Given the description of an element on the screen output the (x, y) to click on. 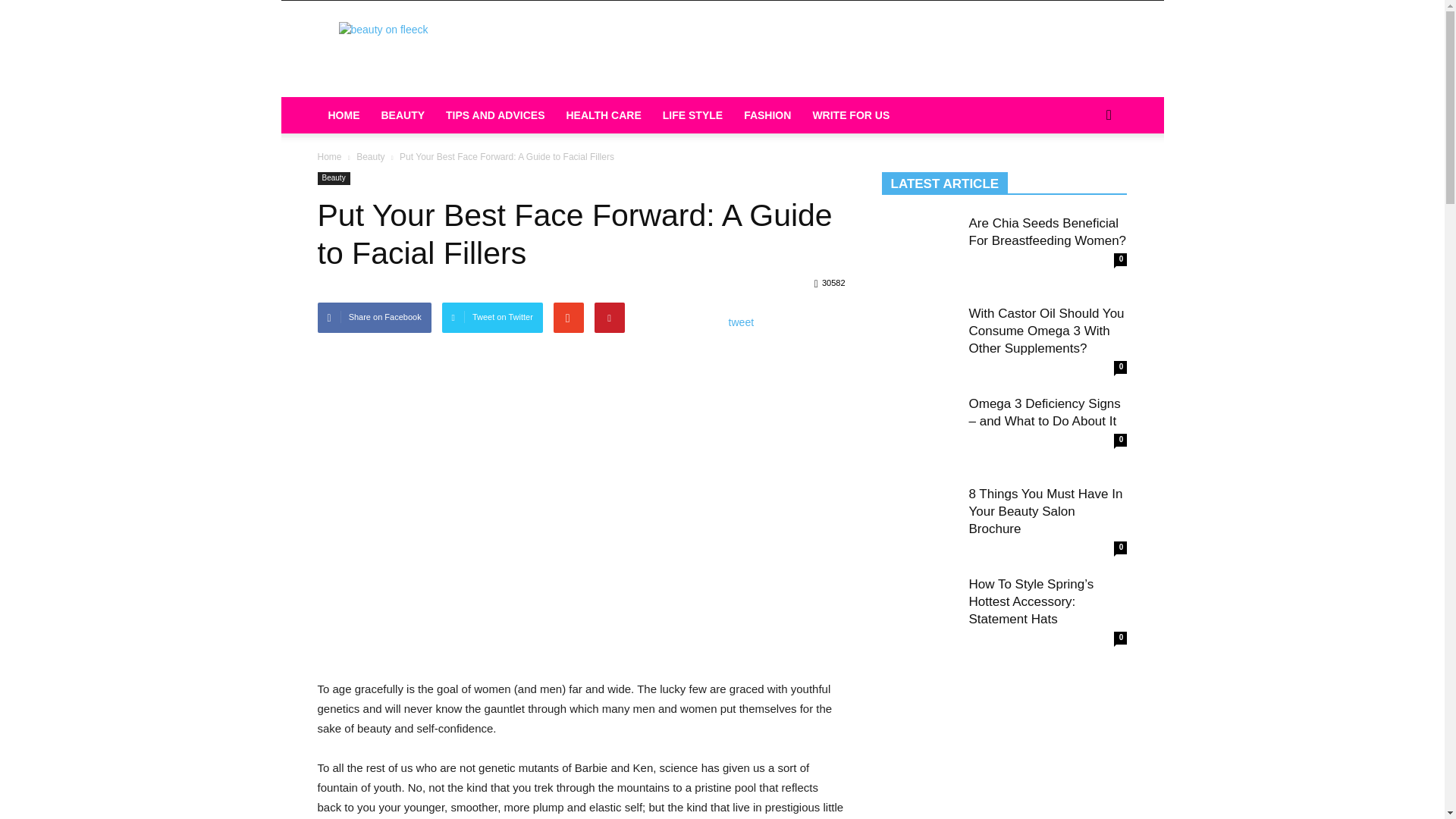
beauty on fleeck (445, 56)
BEAUTY (402, 115)
HOME (343, 115)
